Given the description of an element on the screen output the (x, y) to click on. 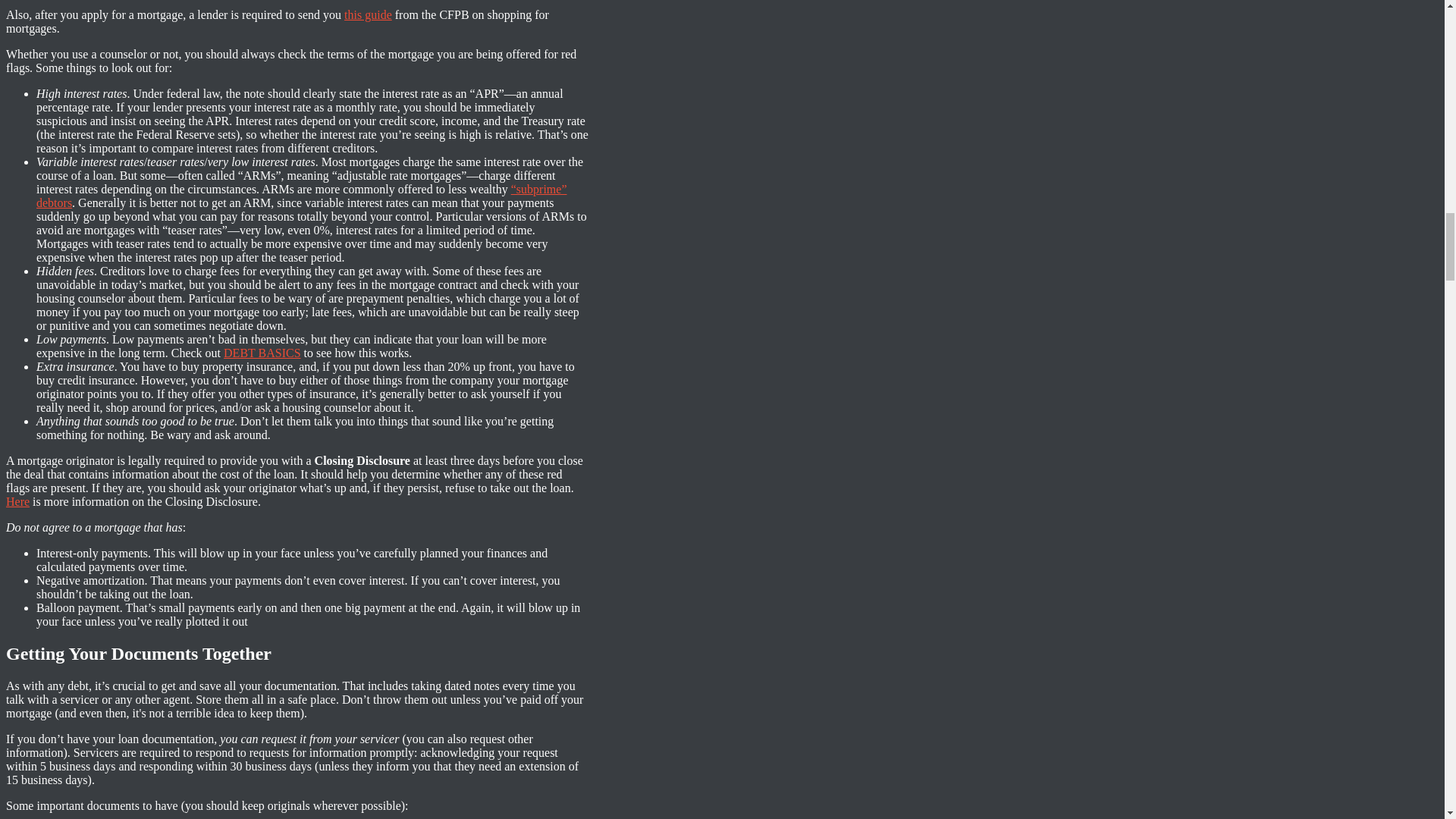
this guide (367, 14)
DEBT BASICS (262, 352)
Here (17, 501)
